Given the description of an element on the screen output the (x, y) to click on. 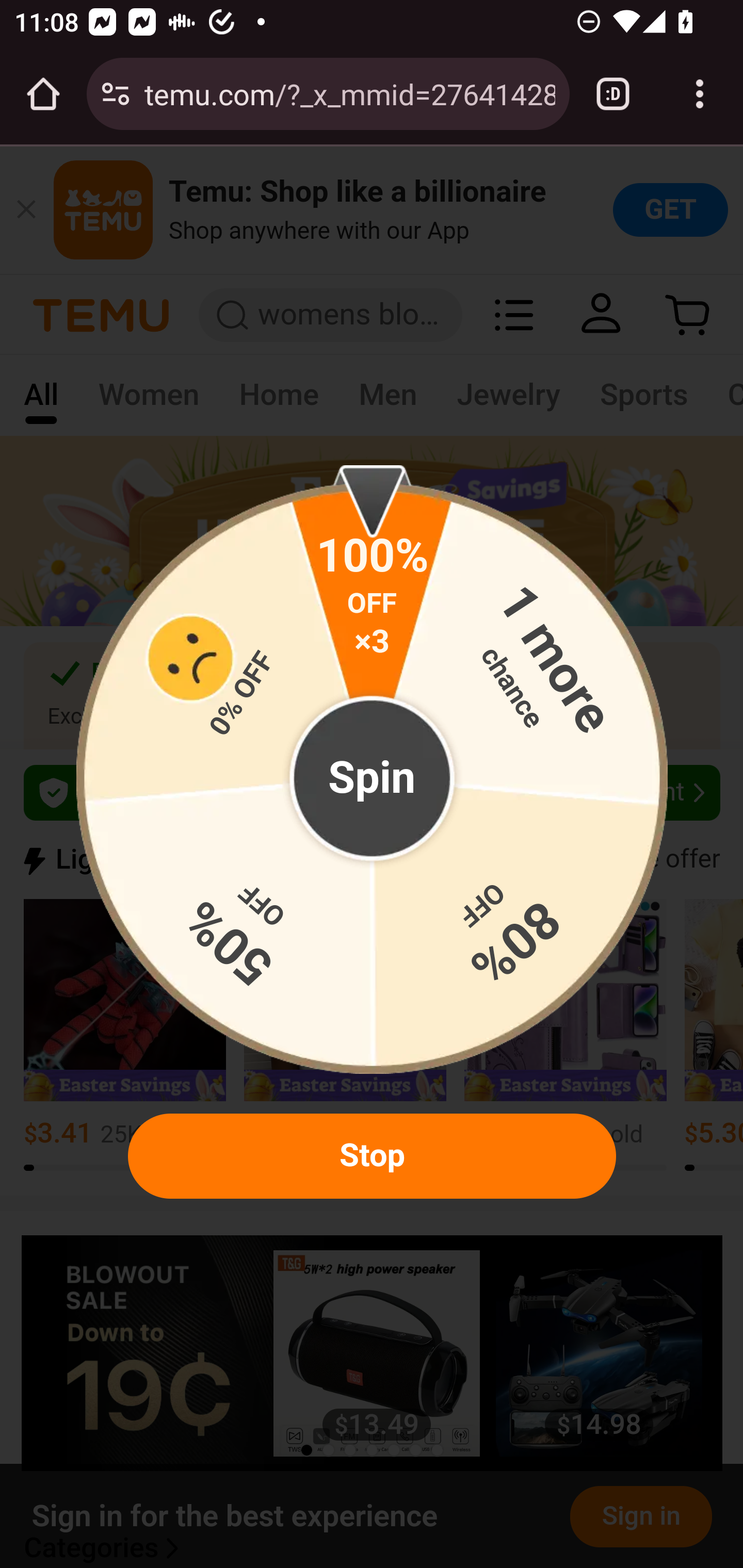
Open the home page (43, 93)
Connection is secure (115, 93)
Switch or close tabs (612, 93)
Customize and control Google Chrome (699, 93)
